Given the description of an element on the screen output the (x, y) to click on. 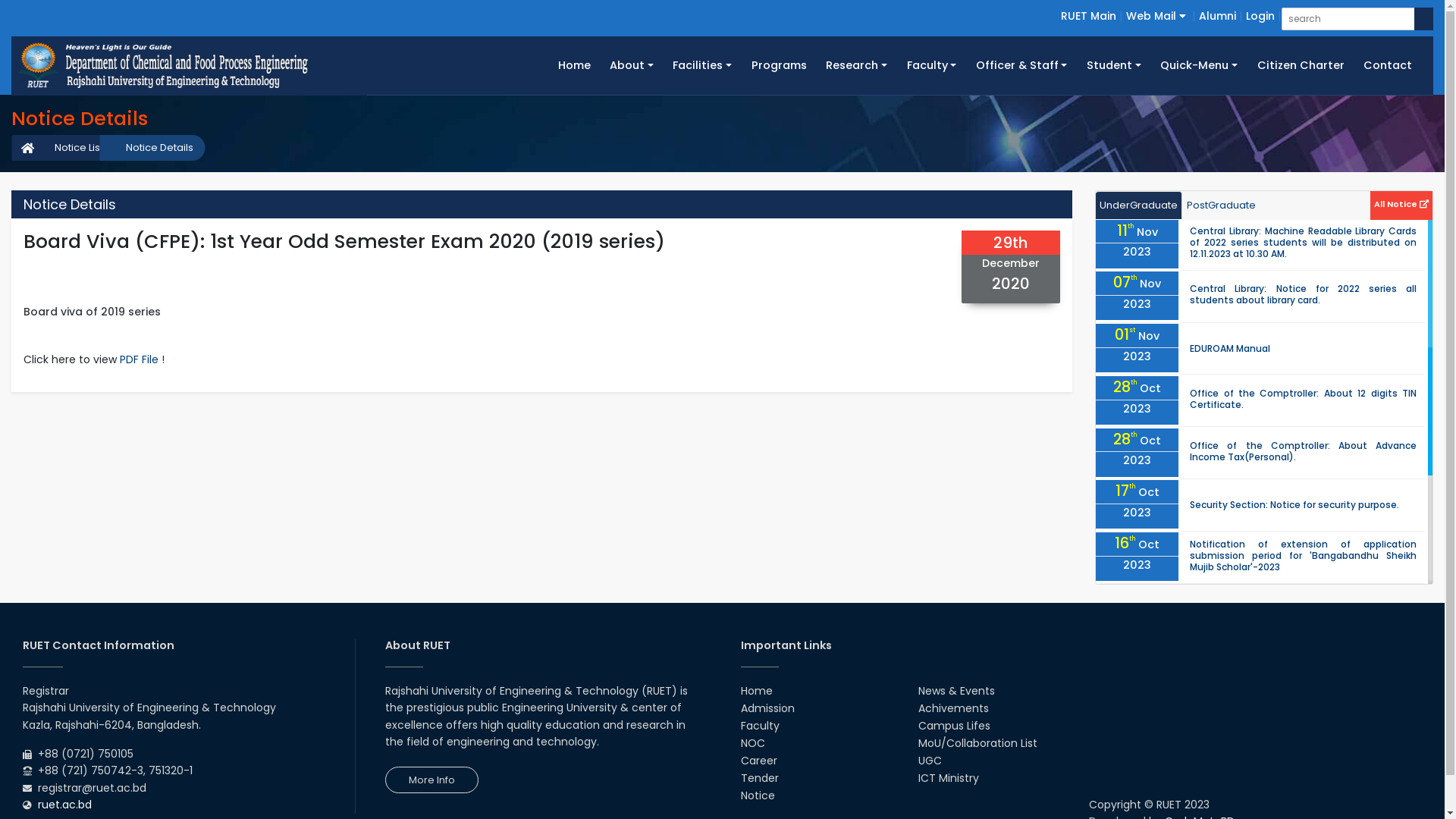
Home
(Current) Element type: text (574, 65)
EDUROAM Manual Element type: text (1229, 348)
About Element type: text (630, 65)
Alumni Element type: text (1217, 15)
Faculty Element type: text (759, 725)
NOC Element type: text (752, 742)
Home Element type: text (755, 690)
News & Events Element type: text (956, 690)
Quick-Menu Element type: text (1199, 65)
Office of the Comptroller: About 12 digits TIN Certificate. Element type: text (1302, 398)
RUET Main Element type: text (1088, 15)
All Notice Element type: text (1401, 203)
Citizen Charter Element type: text (1300, 65)
PDF File ! Element type: text (141, 359)
UGC Element type: text (929, 760)
Notice List Element type: text (71, 147)
Contact Element type: text (1387, 65)
ICT Ministry Element type: text (948, 777)
MoU/Collaboration List Element type: text (977, 742)
Student Element type: text (1113, 65)
Achivements Element type: text (953, 707)
PostGraduate Element type: text (1221, 205)
Campus Lifes Element type: text (954, 725)
Facilities Element type: text (702, 65)
Notice Element type: text (757, 795)
Programs Element type: text (778, 65)
Notice Details Element type: text (151, 147)
Officer & Staff Element type: text (1021, 65)
Faculty Element type: text (931, 65)
Notice of allotment of house. Element type: text (1258, 712)
Admission Element type: text (766, 707)
UnderGraduate Element type: text (1138, 205)
Login Element type: text (1259, 15)
Programs on "The Sheikh Russel Day-2023" Element type: text (1289, 608)
More Info Element type: text (431, 779)
Web Mail Element type: text (1156, 15)
ruet.ac.bd Element type: text (64, 804)
Security Section: Notice for security purpose. Element type: text (1294, 504)
Career Element type: text (758, 760)
Research Element type: text (855, 65)
Tender Element type: text (759, 777)
